Given the description of an element on the screen output the (x, y) to click on. 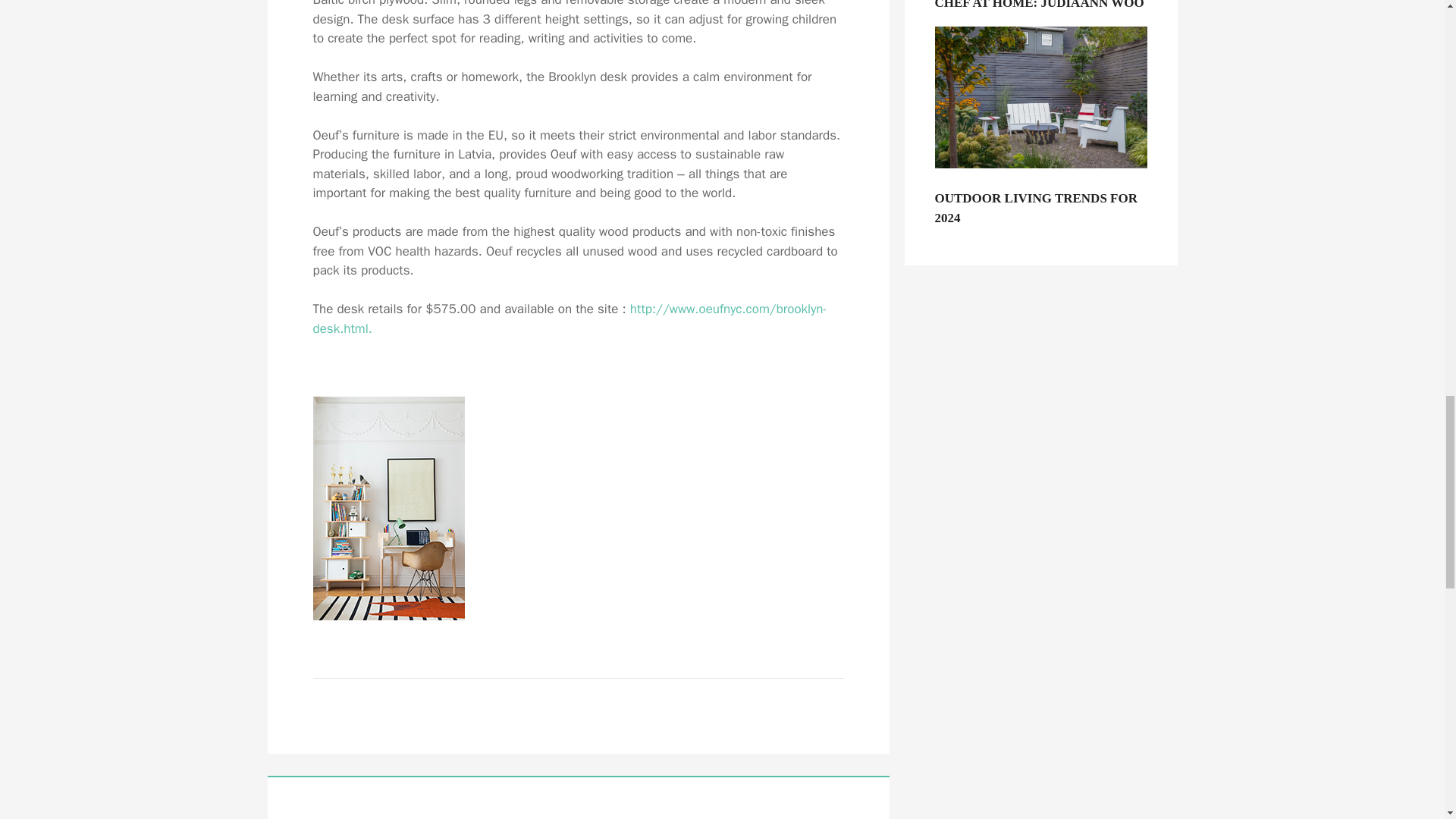
CHEF AT HOME: JUDIAANN WOO (1040, 10)
